Given the description of an element on the screen output the (x, y) to click on. 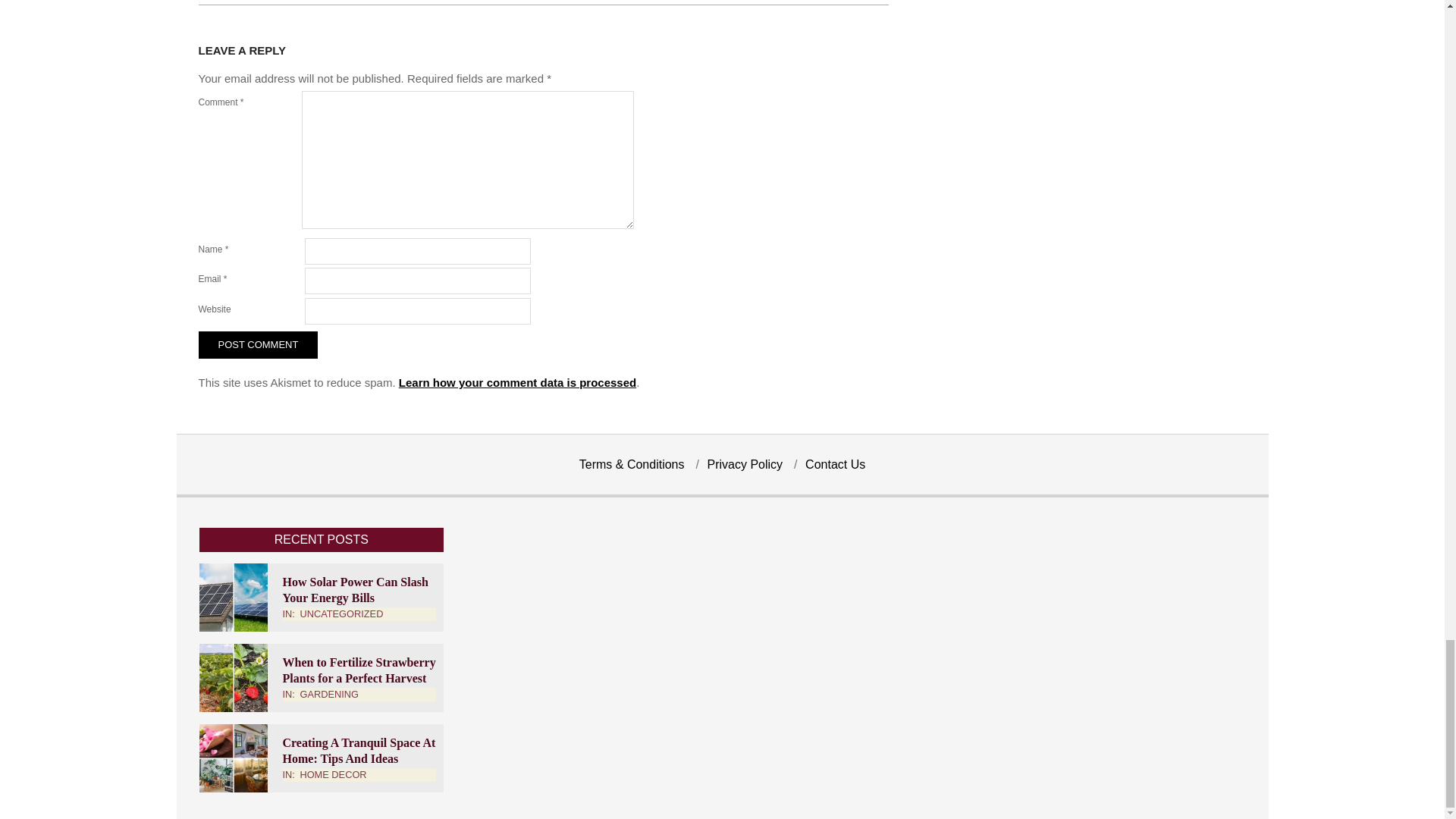
Post Comment (258, 344)
